Given the description of an element on the screen output the (x, y) to click on. 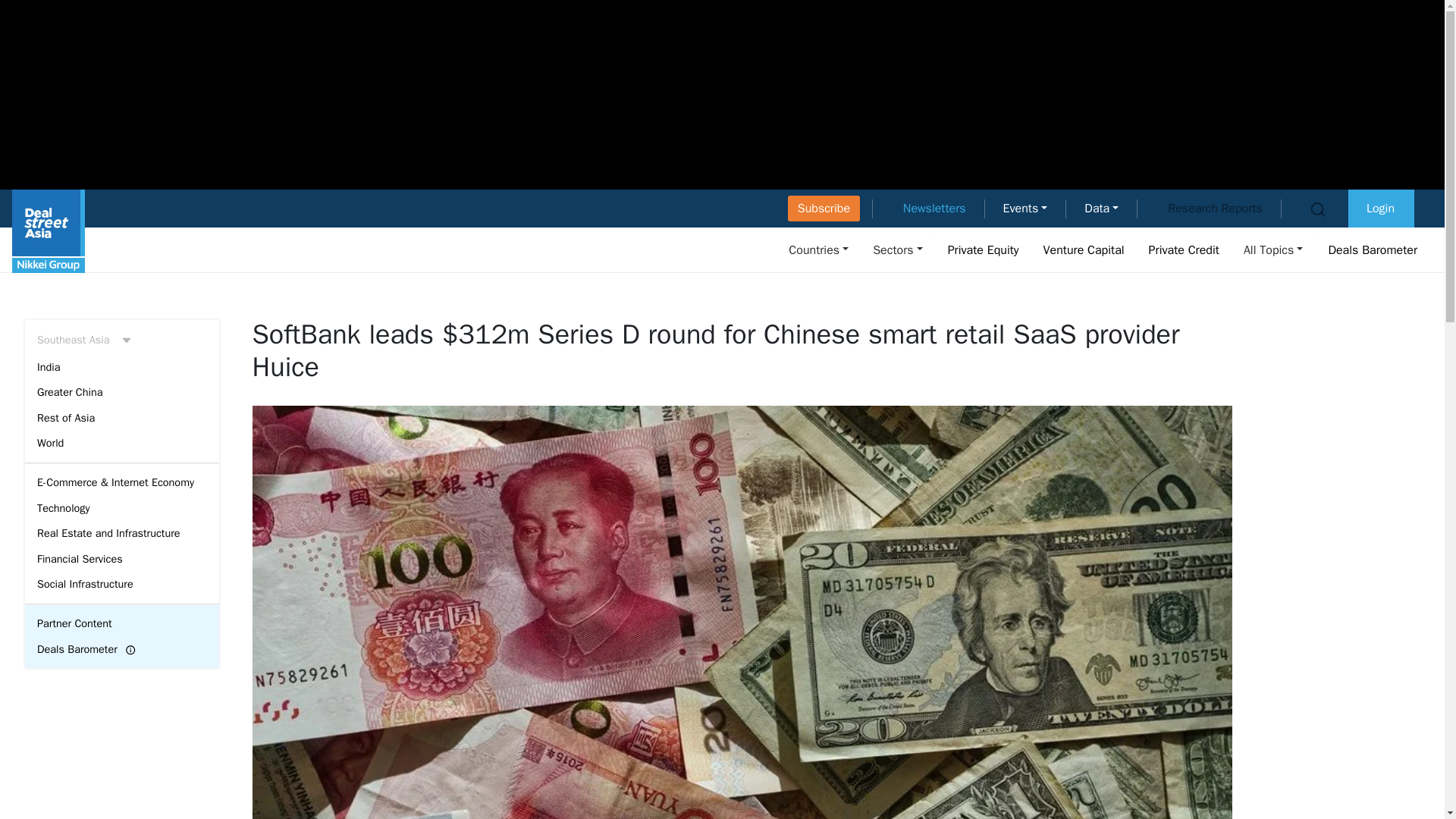
Countries (818, 250)
Subscribe (823, 208)
All Topics (1272, 250)
Southeast Asia (121, 339)
Deals Barometer (1372, 250)
Venture Capital (1083, 250)
Private Credit (1183, 250)
Newsletters (934, 208)
Research Reports (1214, 208)
Sectors (897, 250)
